Given the description of an element on the screen output the (x, y) to click on. 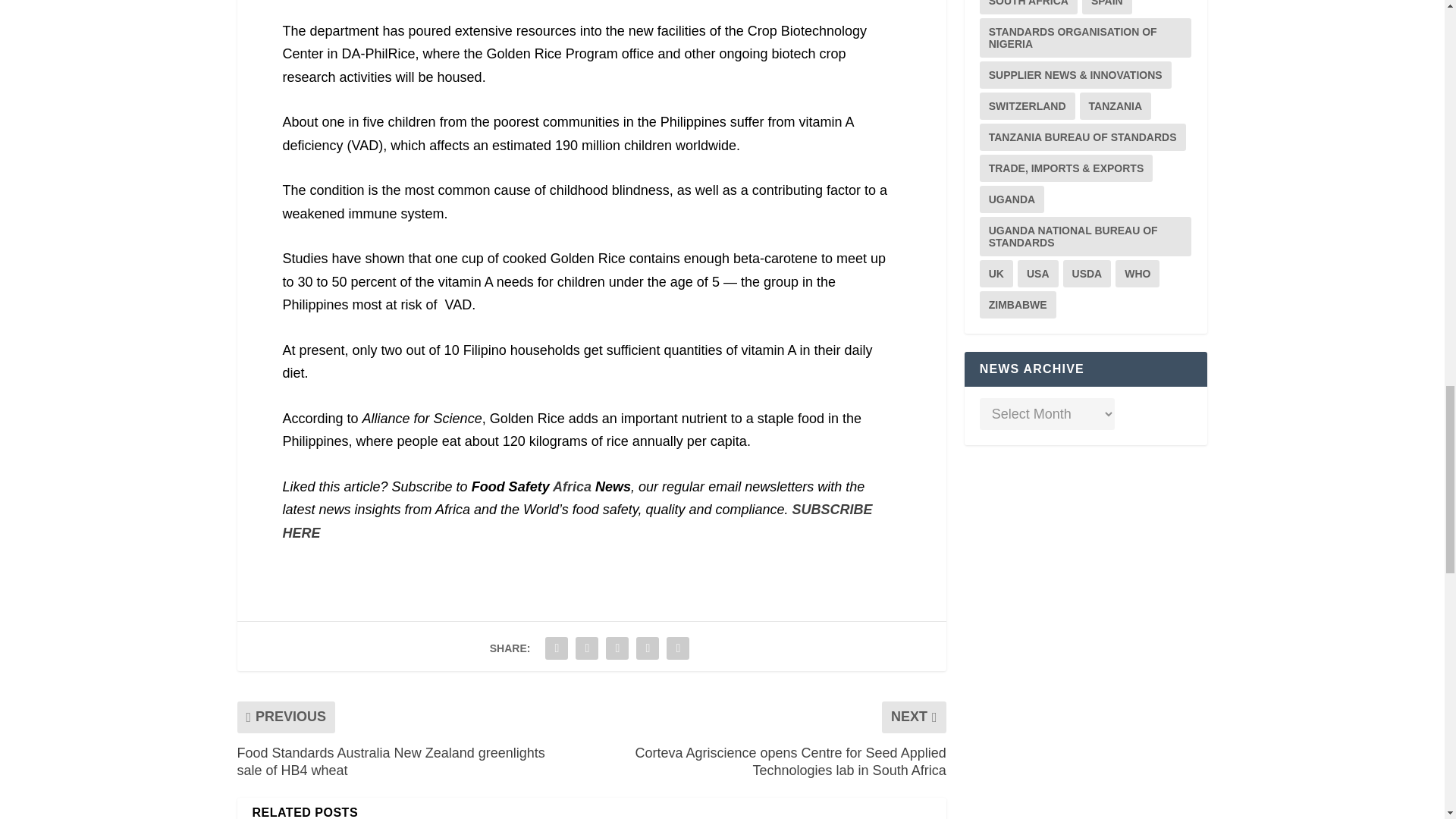
Africa (572, 486)
SUBSCRIBE HERE (577, 521)
